Given the description of an element on the screen output the (x, y) to click on. 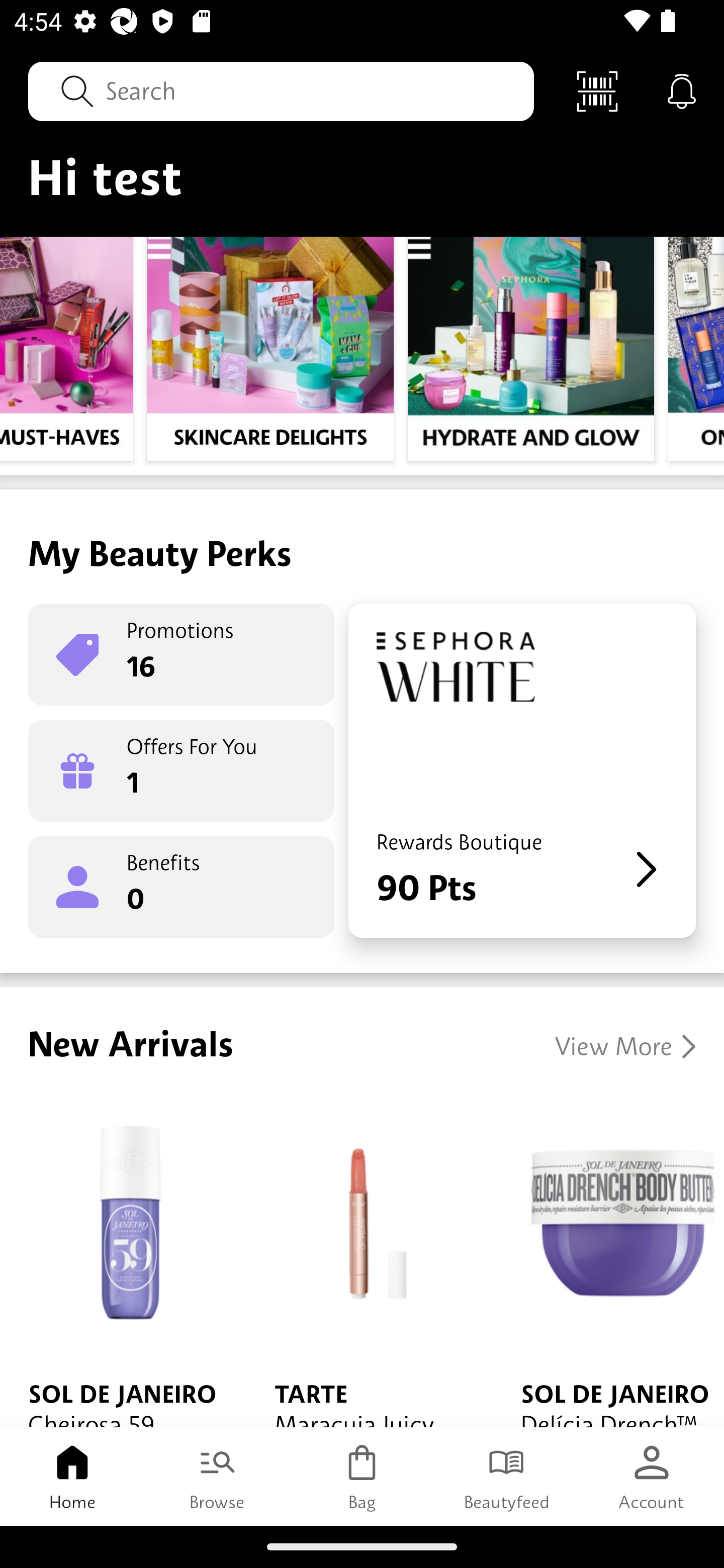
Scan Code (597, 90)
Notifications (681, 90)
Search (281, 90)
Promotions 16 (181, 654)
Rewards Boutique 90 Pts (521, 770)
Offers For You 1 (181, 770)
Benefits 0 (181, 886)
View More (625, 1046)
SOL DE JANEIRO Cheirosa 59 Perfume Mist (123, 1260)
TARTE Maracuja Juicy Shimmer Glass Lip Plump (369, 1260)
SOL DE JANEIRO Delícia Drench™ Body Butter (608, 1260)
Browse (216, 1475)
Bag (361, 1475)
Beautyfeed (506, 1475)
Account (651, 1475)
